Given the description of an element on the screen output the (x, y) to click on. 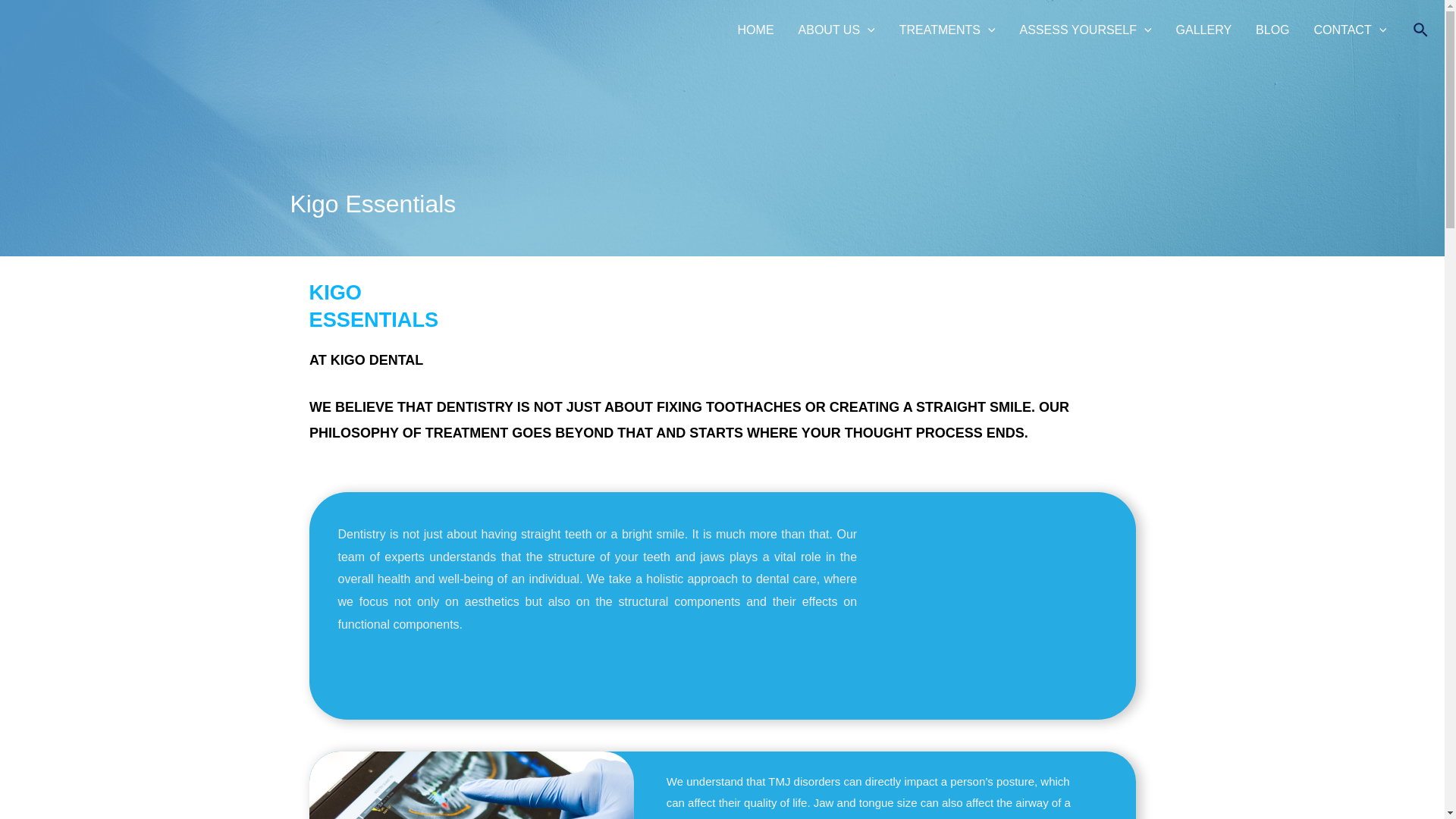
ABOUT US (836, 30)
HOME (755, 30)
TREATMENTS (946, 30)
